Given the description of an element on the screen output the (x, y) to click on. 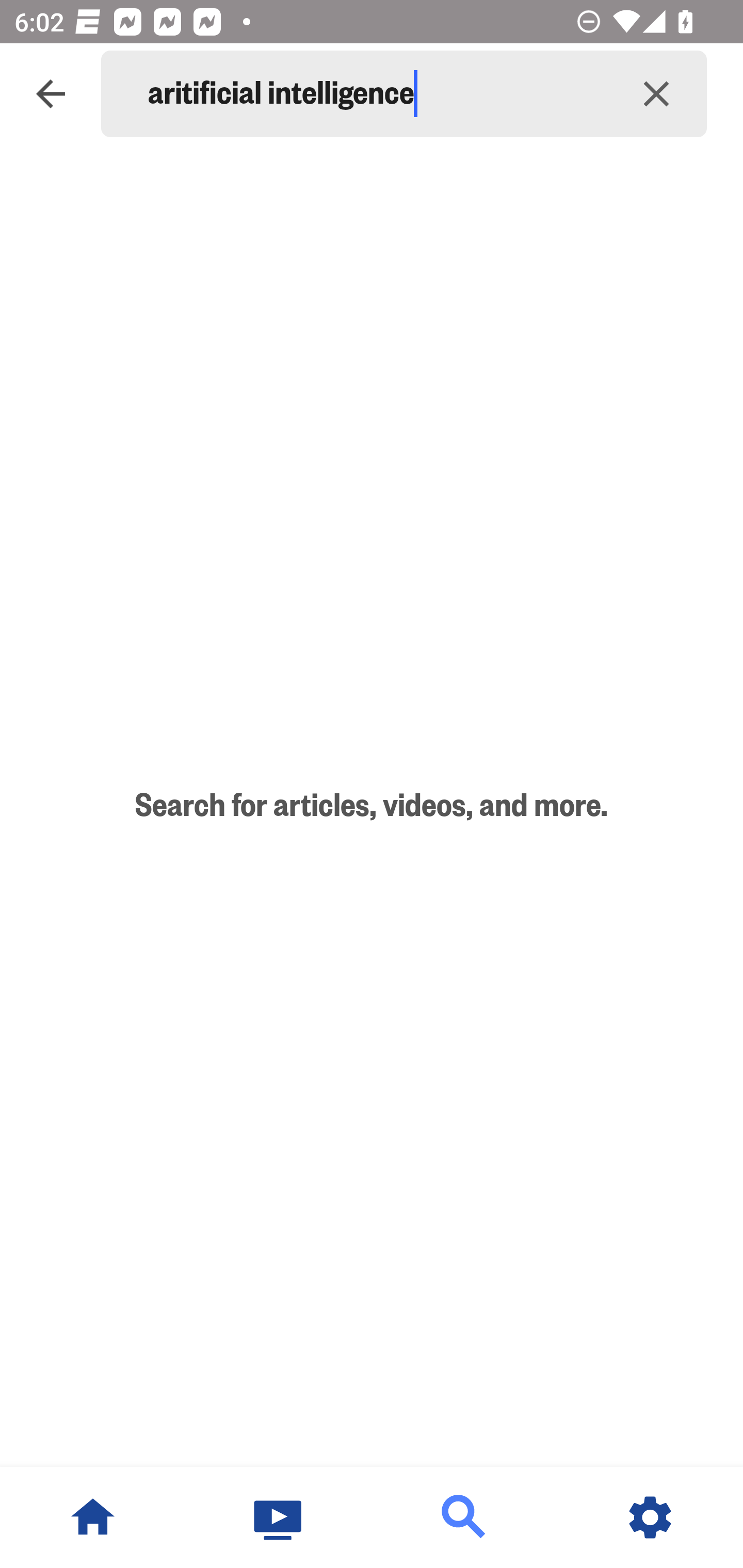
Navigate up (50, 93)
Clear query (656, 93)
aritificial intelligence (376, 94)
NBC News Home (92, 1517)
Watch (278, 1517)
Settings (650, 1517)
